Given the description of an element on the screen output the (x, y) to click on. 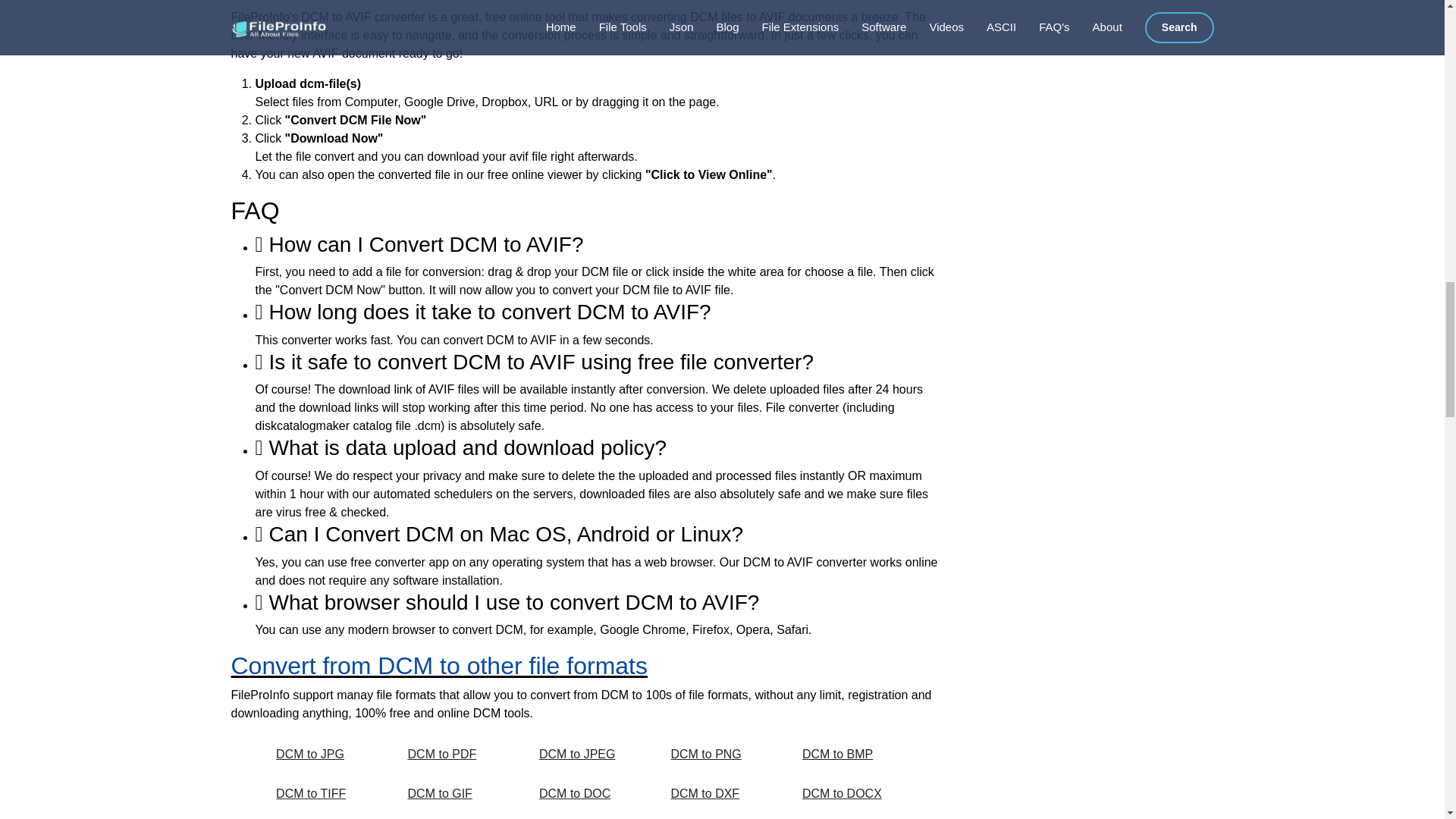
DCM to BMP (851, 754)
DCM to GIF (456, 793)
DCM to JPG (325, 754)
DCM to PNG (719, 754)
Convert from DCM to other file formats (438, 665)
DCM to TIFF (325, 793)
DCM to JPEG (587, 754)
DCM to PDF (456, 754)
